Given the description of an element on the screen output the (x, y) to click on. 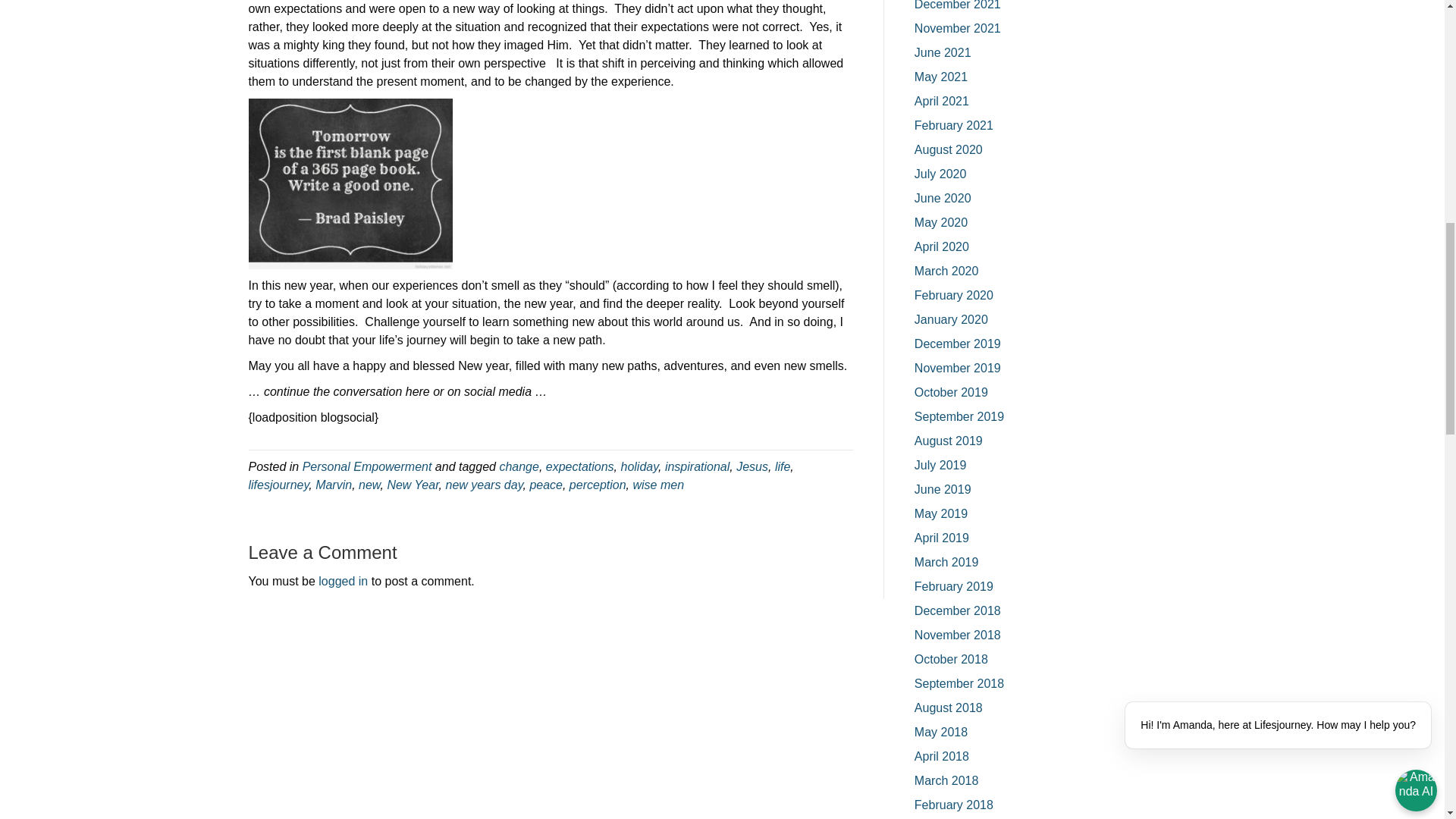
change (518, 465)
lifesjourney (278, 483)
Personal Empowerment (367, 465)
new (369, 483)
expectations (580, 465)
holiday (639, 465)
life (782, 465)
Marvin (333, 483)
inspirational (697, 465)
Jesus (752, 465)
